Given the description of an element on the screen output the (x, y) to click on. 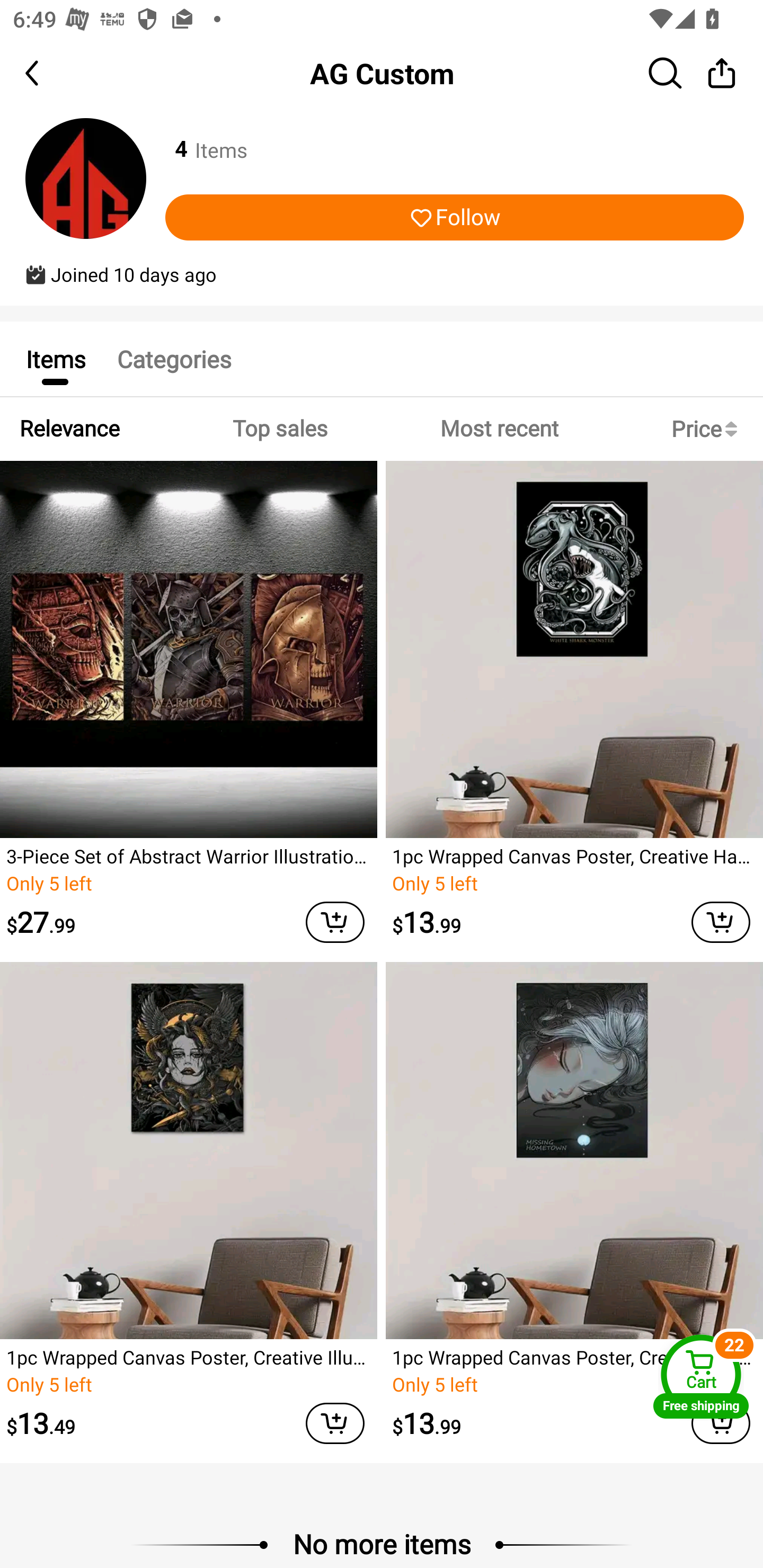
back (47, 72)
AG Custom (381, 72)
share (721, 72)
Items (55, 358)
Categories (174, 358)
Relevance (69, 428)
Top sales (279, 428)
Most recent (498, 428)
Price (707, 428)
cart delete (334, 921)
cart delete (720, 921)
Cart Free shipping Cart (701, 1375)
cart delete (334, 1423)
